Given the description of an element on the screen output the (x, y) to click on. 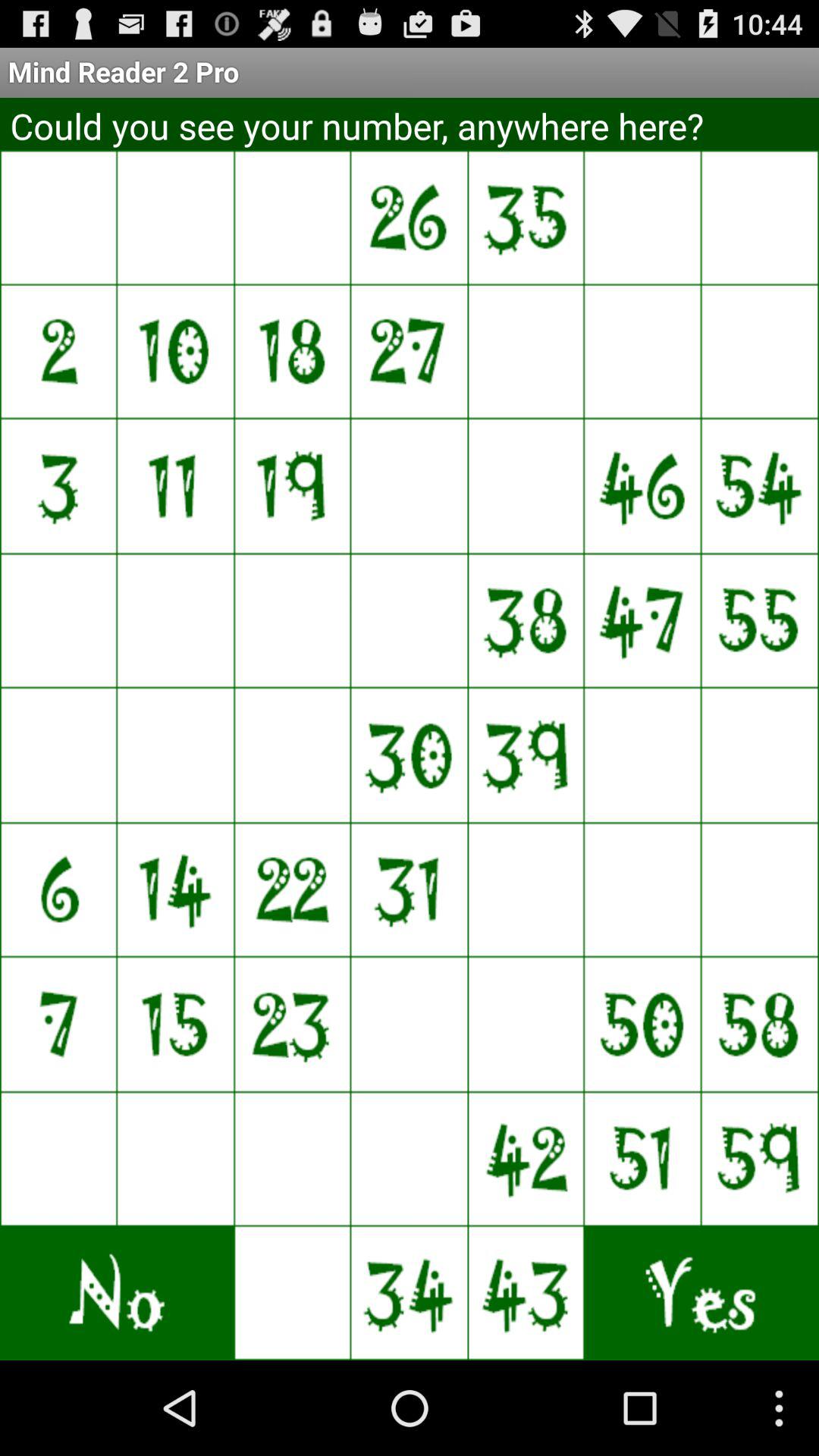
tap the tile where the number was shown (233, 755)
